Given the description of an element on the screen output the (x, y) to click on. 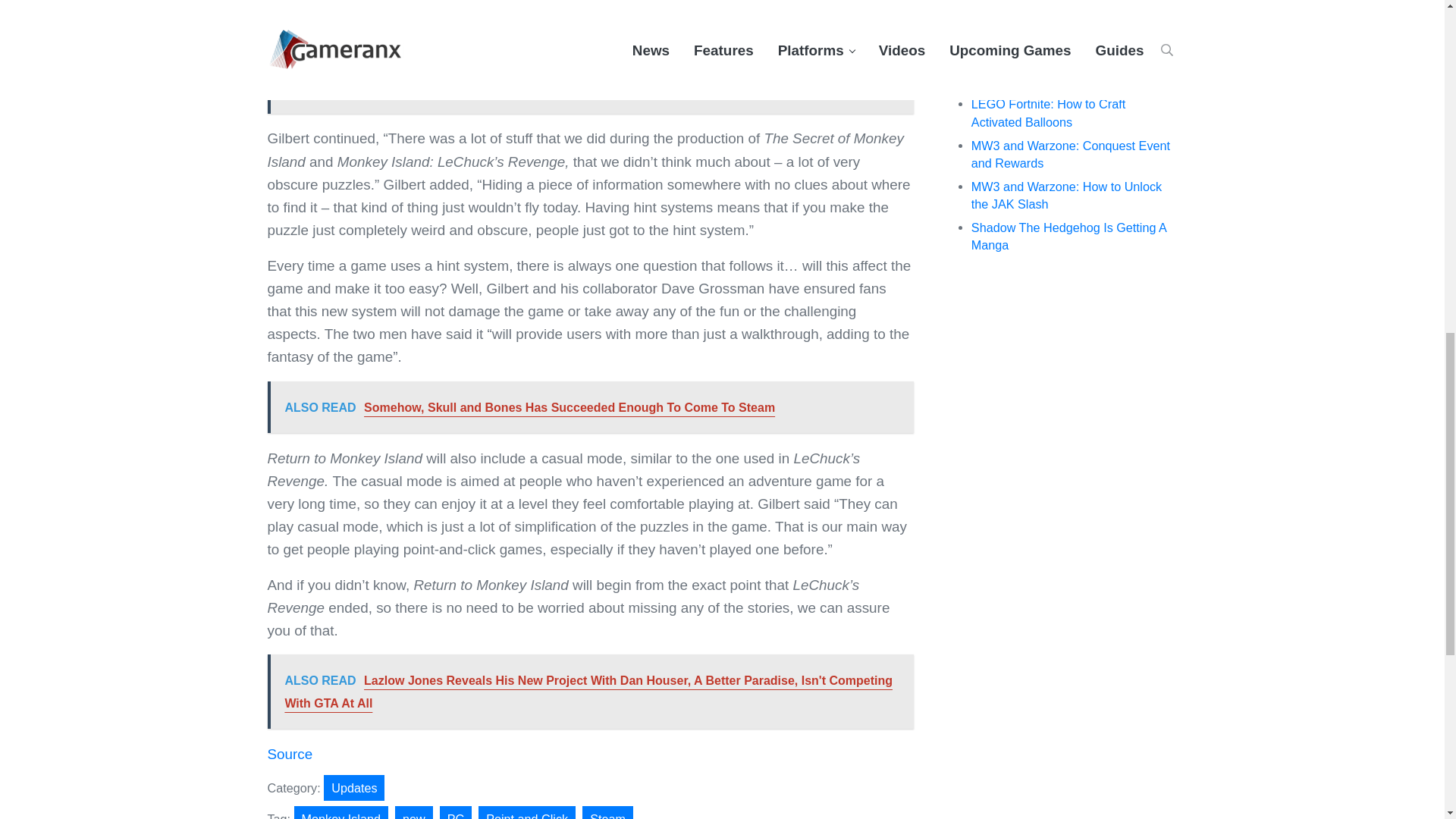
Point and Click (527, 812)
PC (455, 812)
Monkey Island (341, 812)
Source (289, 754)
Steam (607, 812)
new (413, 812)
Updates (353, 787)
